Given the description of an element on the screen output the (x, y) to click on. 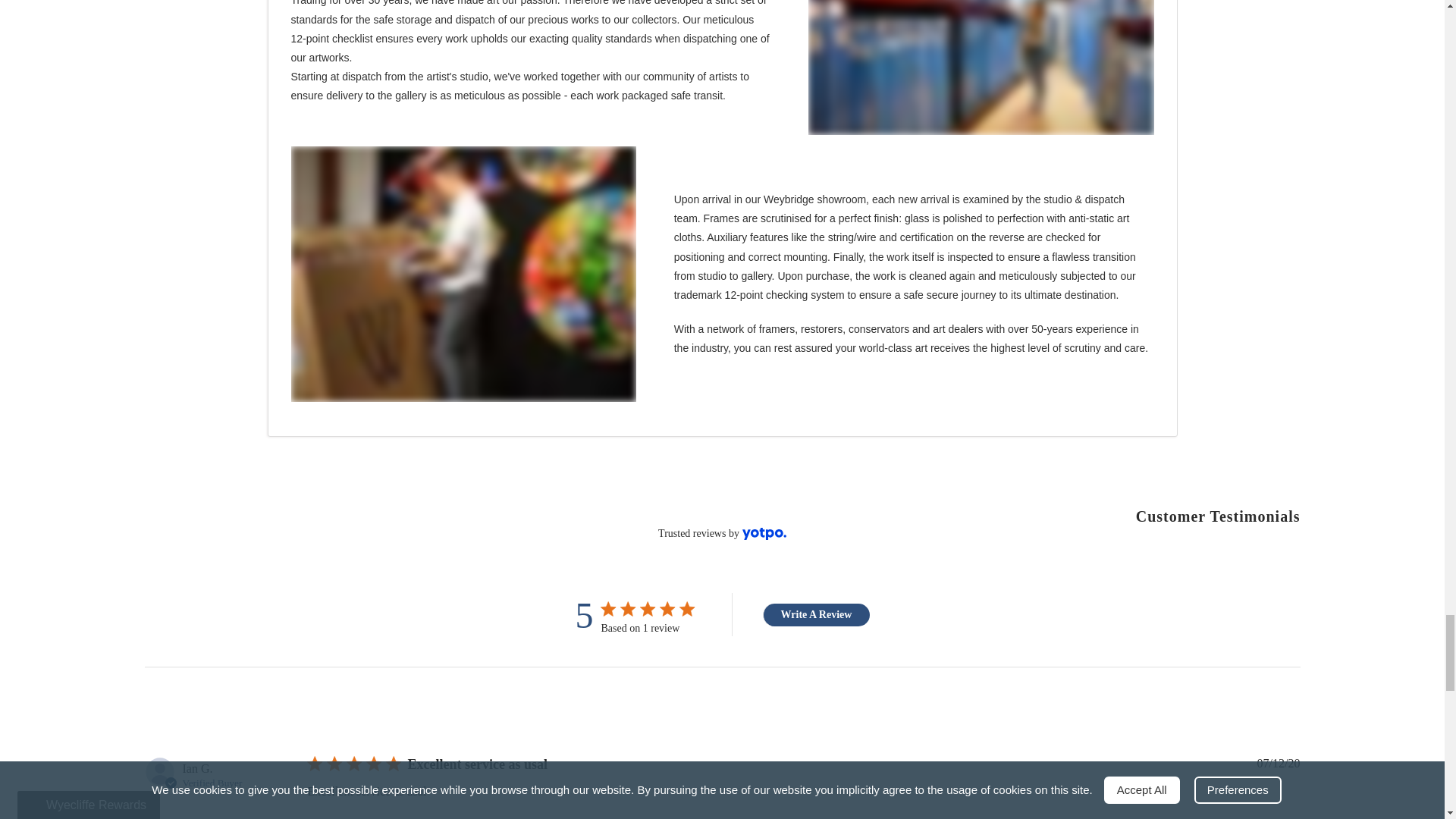
Abstract user icon (159, 771)
Ian G. (197, 768)
